Given the description of an element on the screen output the (x, y) to click on. 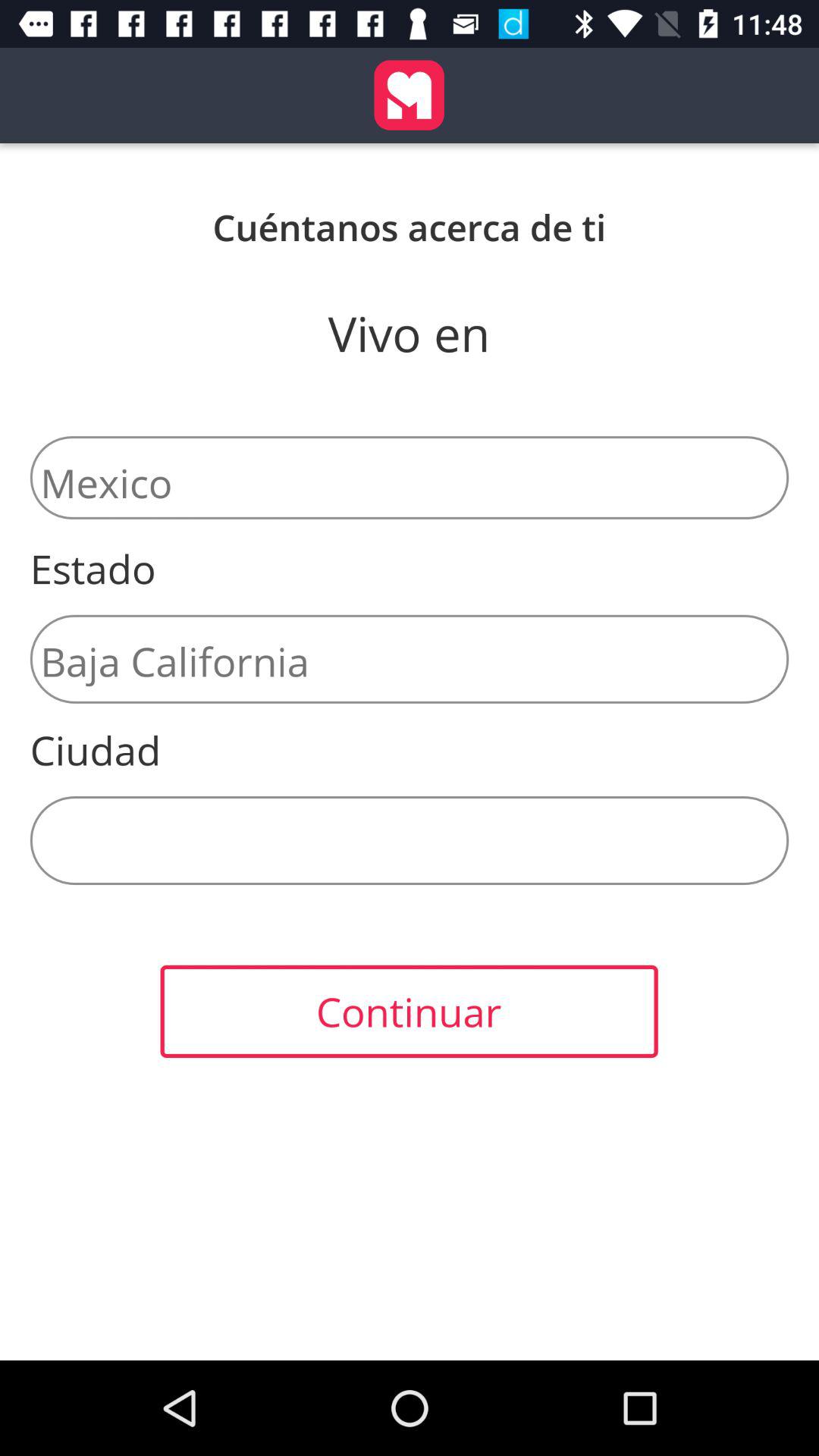
select the continuar item (409, 1011)
